Given the description of an element on the screen output the (x, y) to click on. 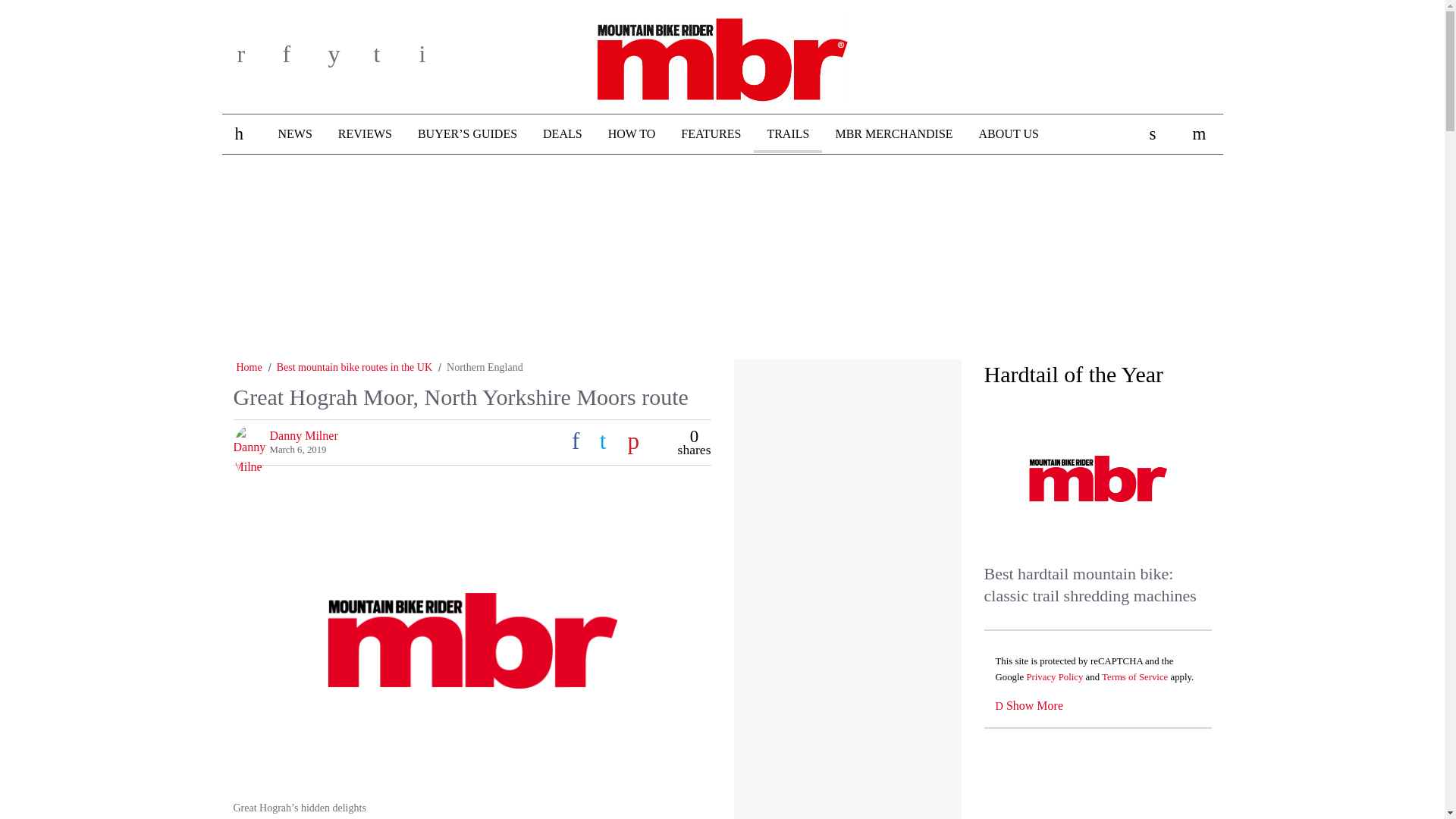
MBR (721, 53)
HOW TO (631, 133)
Danny Milner's Profile (303, 435)
Northern England (484, 367)
Best mountain bike routes in the UK (354, 367)
MBR MERCHANDISE (893, 133)
TRAILS (788, 133)
Home (248, 367)
i (436, 59)
t (390, 59)
